Given the description of an element on the screen output the (x, y) to click on. 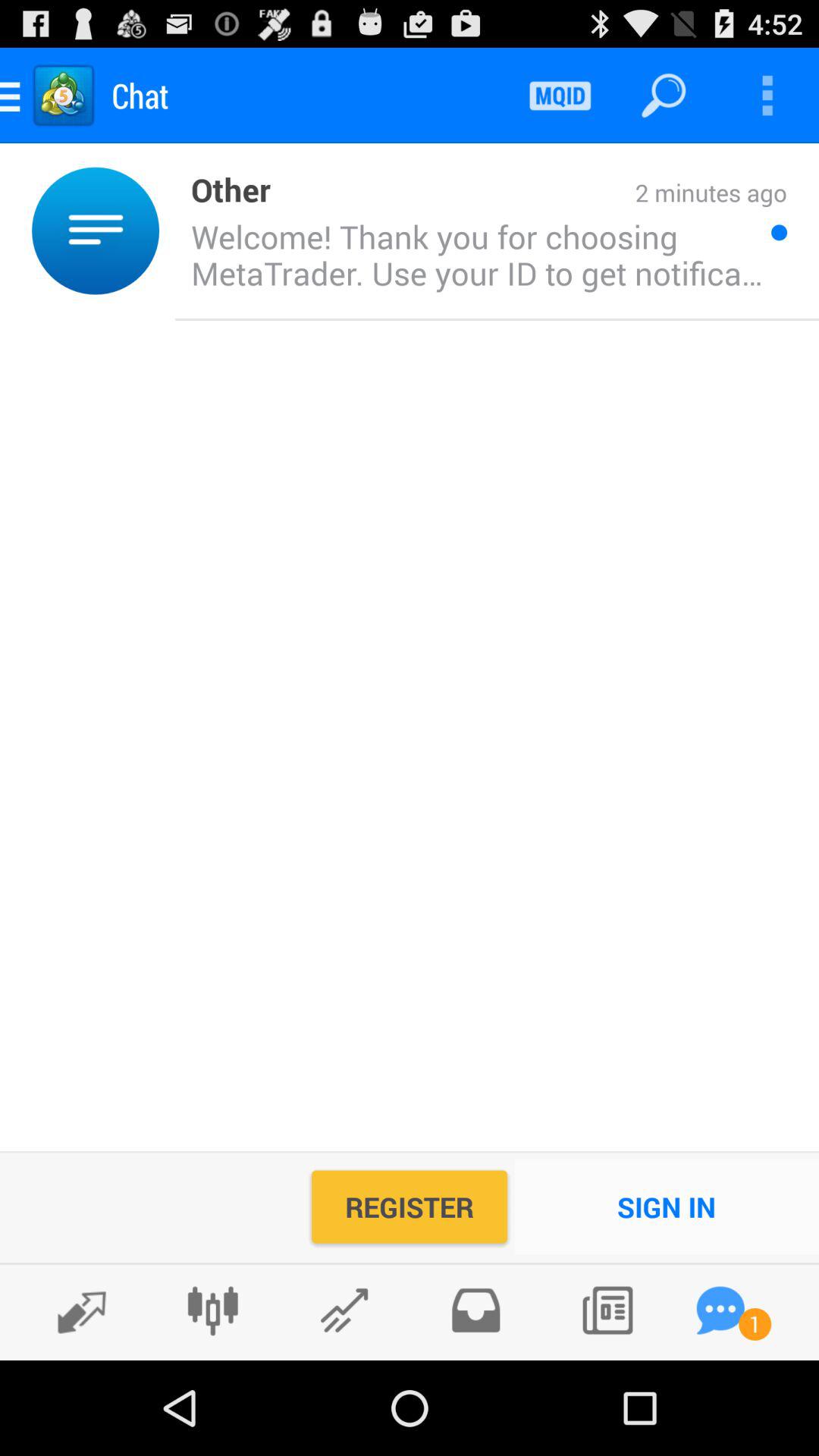
turn on item to the right of the welcome thank you item (779, 232)
